Given the description of an element on the screen output the (x, y) to click on. 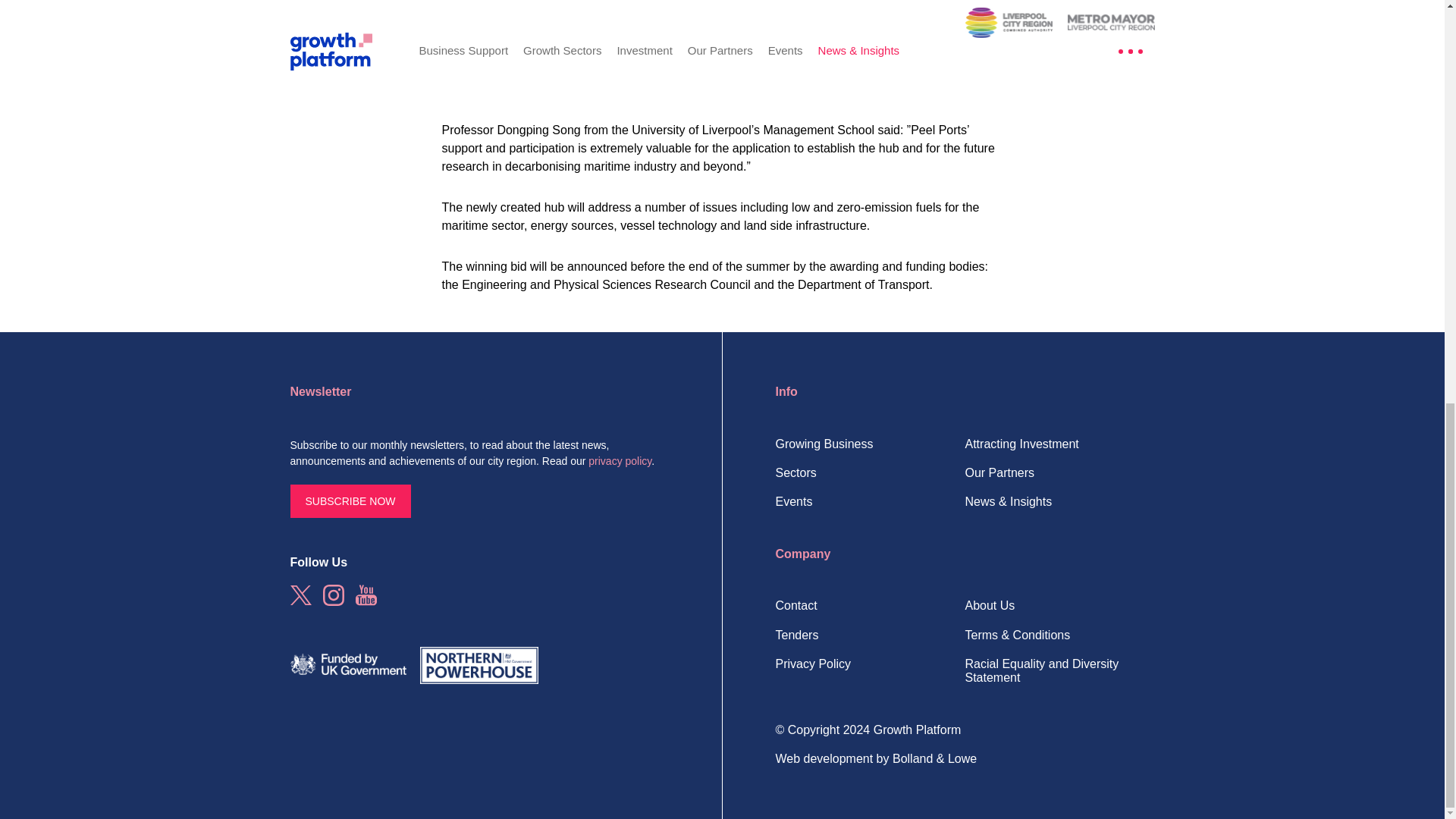
Growth Platform on YouTube (365, 595)
Growth Platform on Twitter (300, 595)
Growth Platform on Instagram (333, 595)
